Given the description of an element on the screen output the (x, y) to click on. 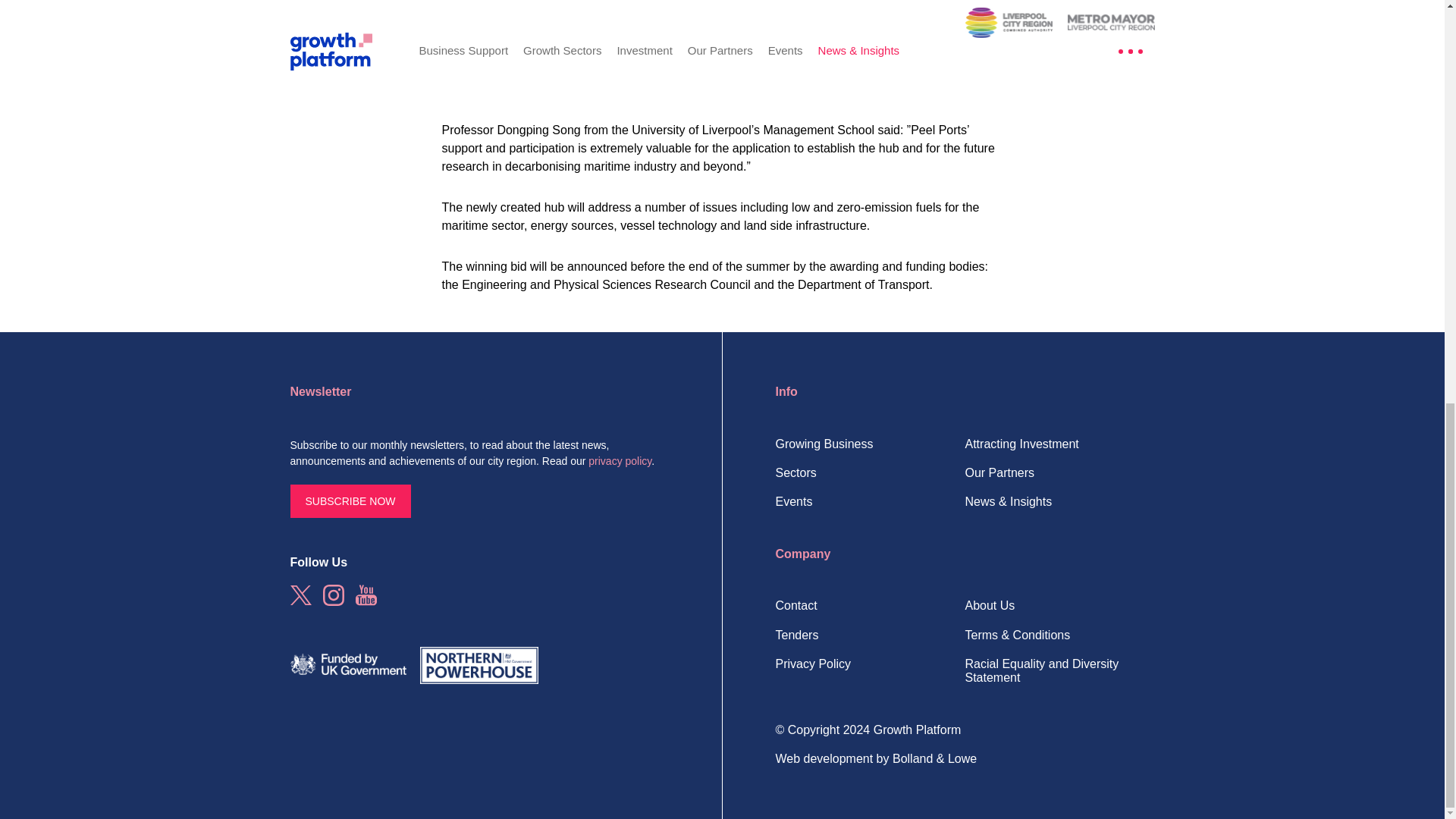
Growth Platform on YouTube (365, 595)
Growth Platform on Twitter (300, 595)
Growth Platform on Instagram (333, 595)
